Given the description of an element on the screen output the (x, y) to click on. 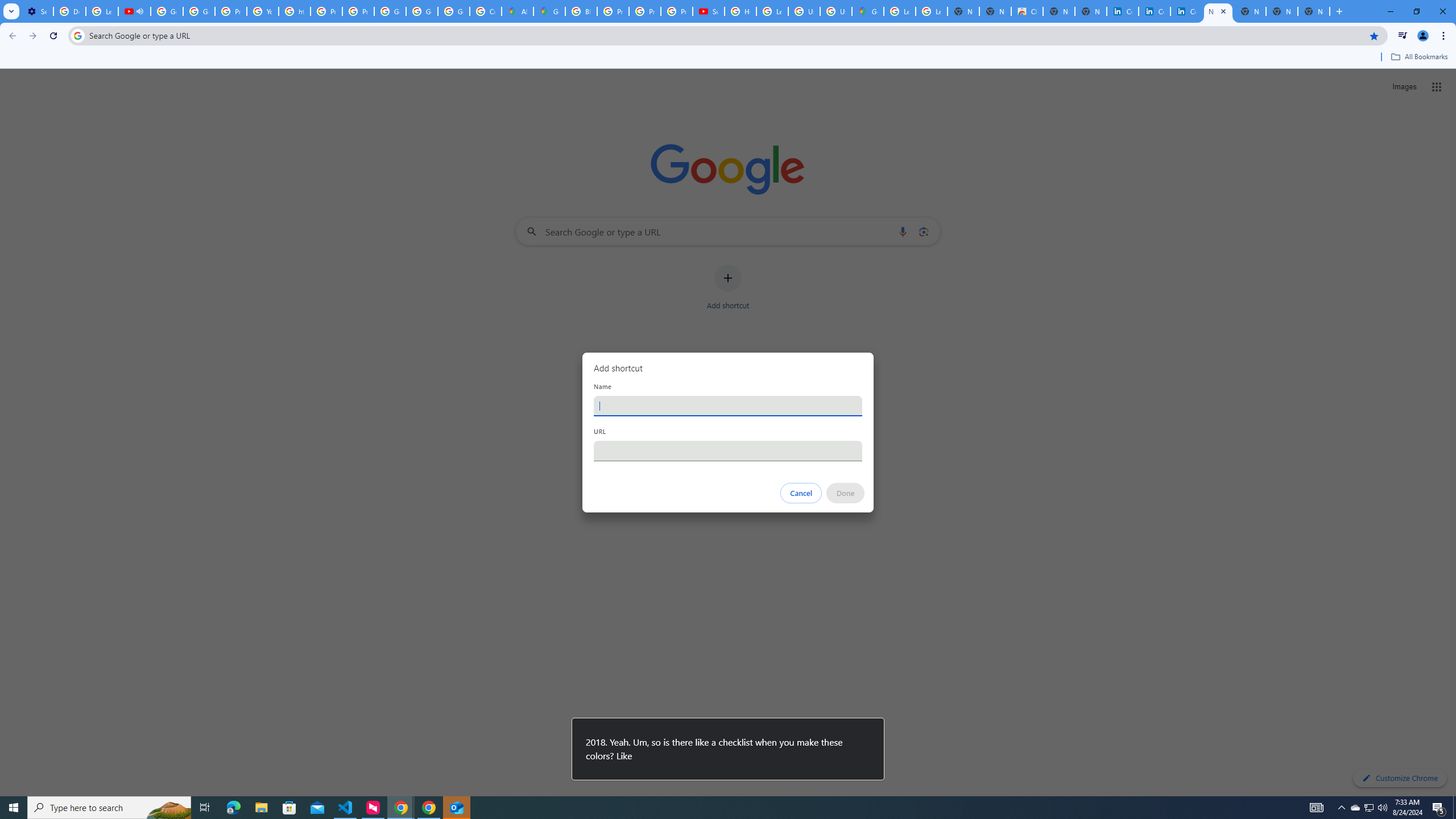
Name (727, 405)
Copyright Policy (1185, 11)
Mute tab (139, 10)
Privacy Help Center - Policies Help (326, 11)
Google Maps (549, 11)
How Chrome protects your passwords - Google Chrome Help (740, 11)
Google Maps (868, 11)
Subscriptions - YouTube (708, 11)
Create your Google Account (485, 11)
https://scholar.google.com/ (294, 11)
Cancel (801, 493)
